Given the description of an element on the screen output the (x, y) to click on. 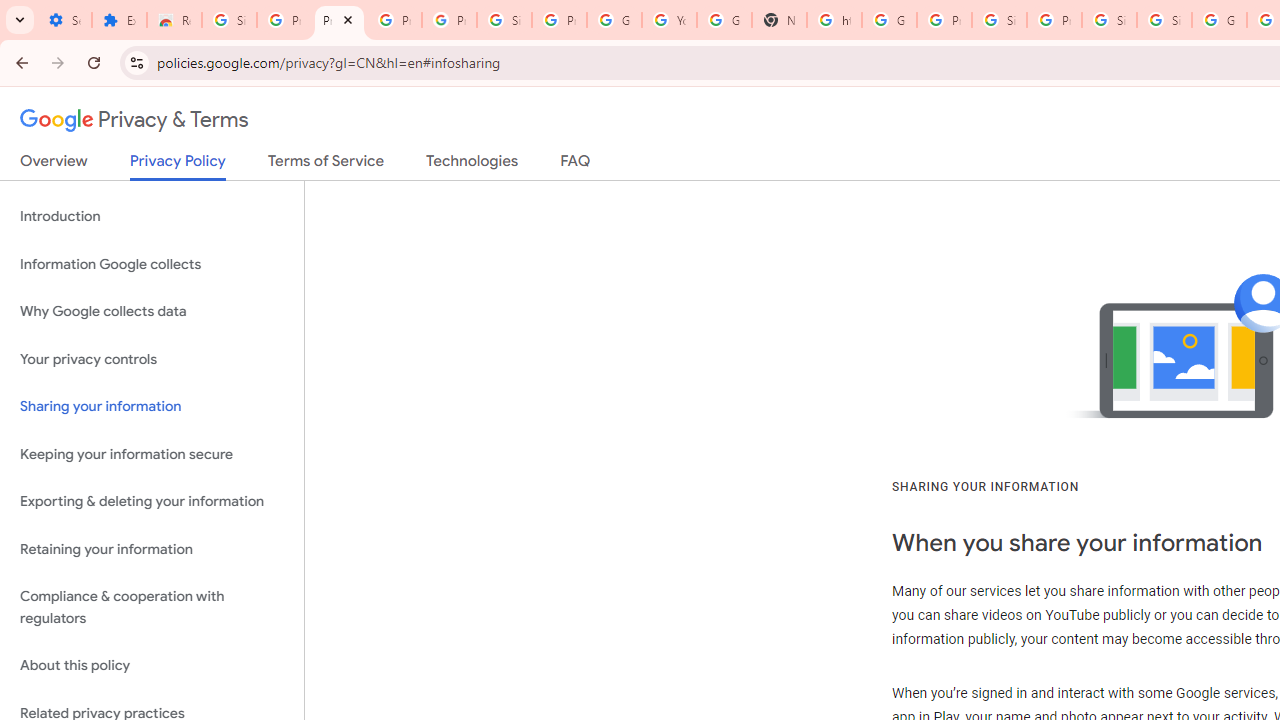
Technologies (472, 165)
FAQ (575, 165)
Sign in - Google Accounts (504, 20)
Sign in - Google Accounts (1163, 20)
Privacy & Terms (134, 120)
New Tab (779, 20)
Your privacy controls (152, 358)
https://scholar.google.com/ (833, 20)
Settings - On startup (64, 20)
Information Google collects (152, 263)
